Given the description of an element on the screen output the (x, y) to click on. 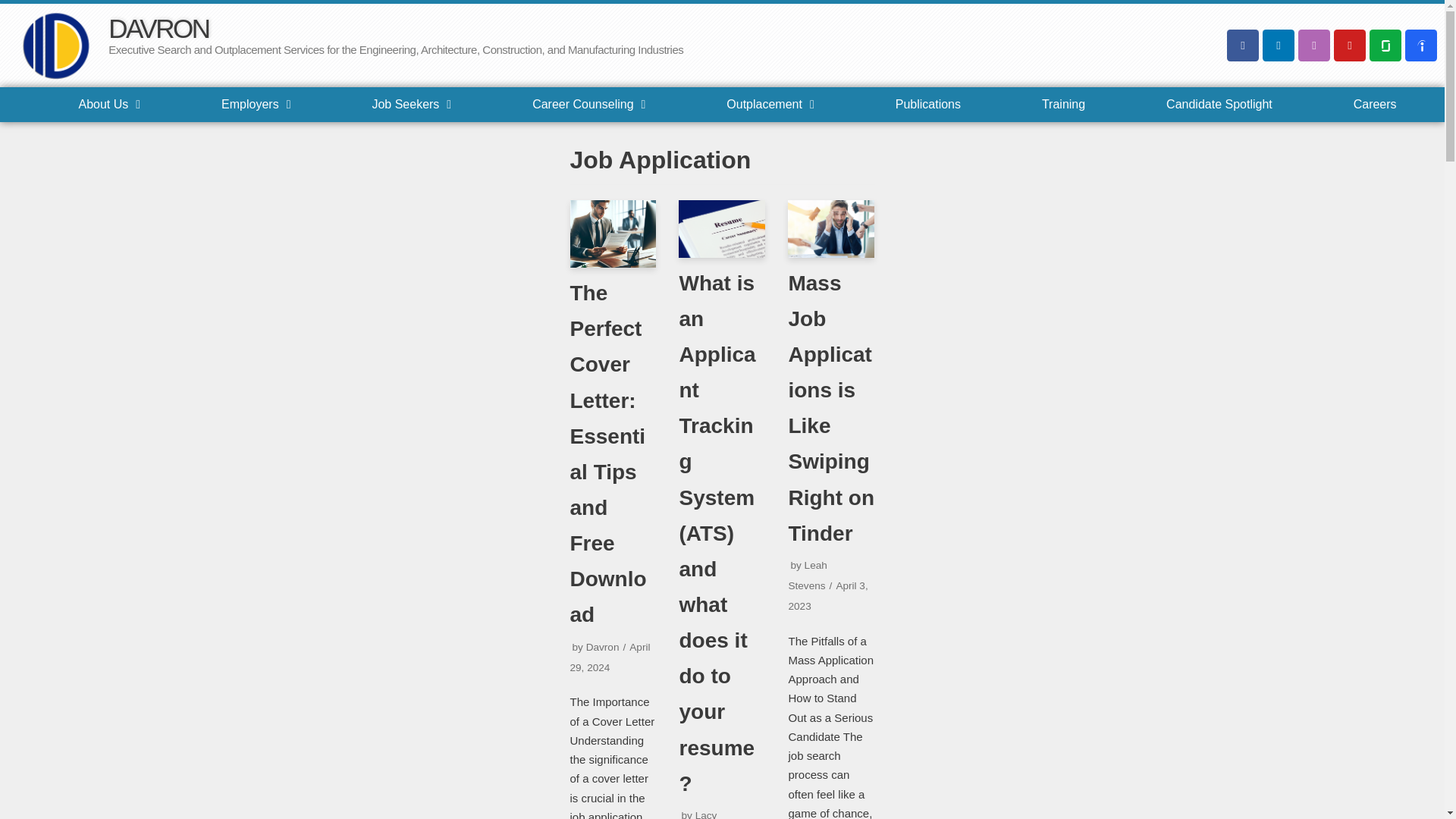
Posts by Lacy McElfresh (700, 814)
Posts by Davron (603, 646)
DAVRON (157, 28)
Posts by Leah Stevens (807, 575)
Davron Engineering Staffing (44, 40)
The Perfect Cover Letter: Essential Tips and Free Download (613, 233)
About Us (108, 104)
Mass Job Applications is Like Swiping Right on Tinder (831, 228)
Skip to content (15, 31)
